Given the description of an element on the screen output the (x, y) to click on. 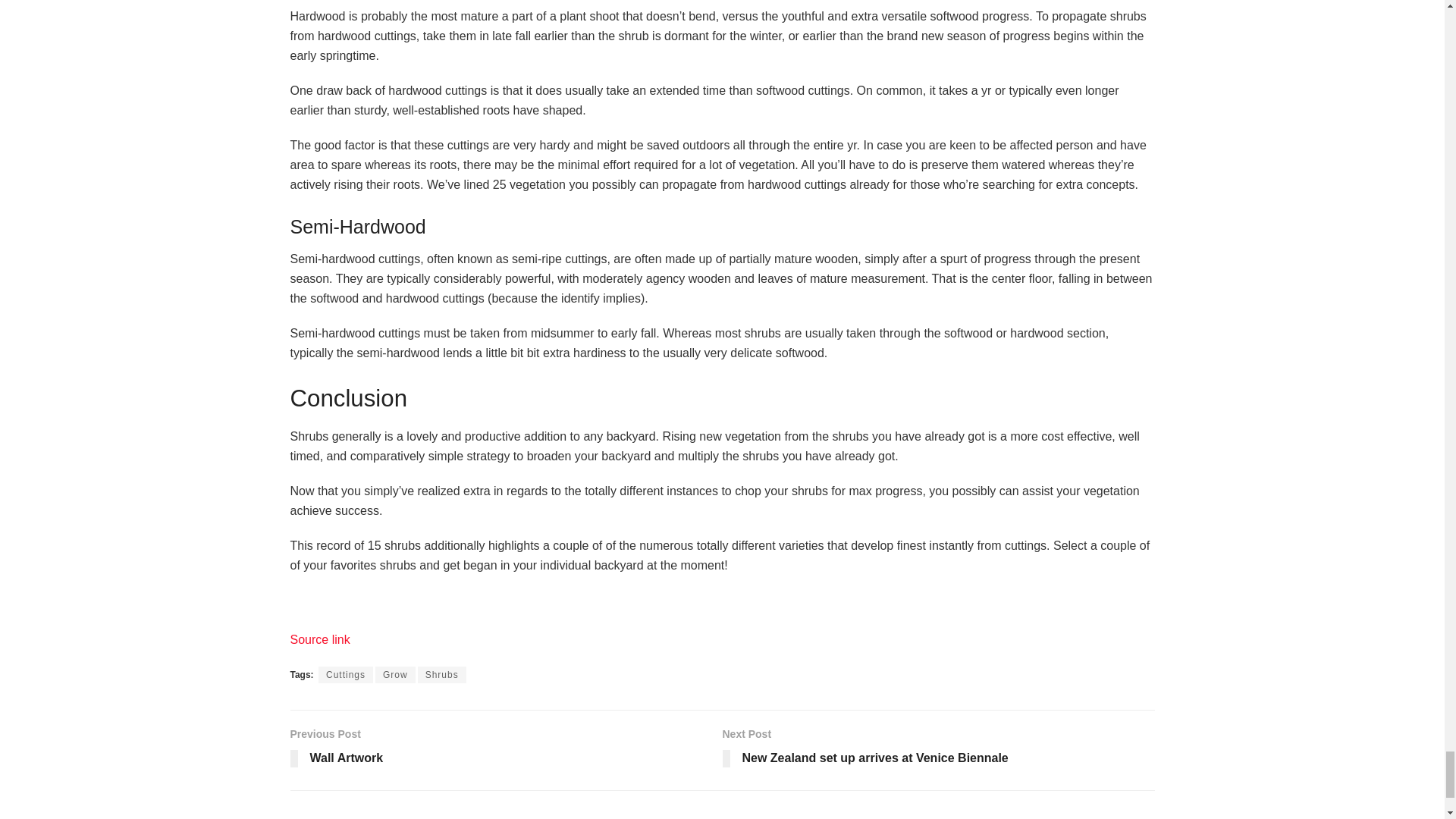
Source link (319, 639)
